Given the description of an element on the screen output the (x, y) to click on. 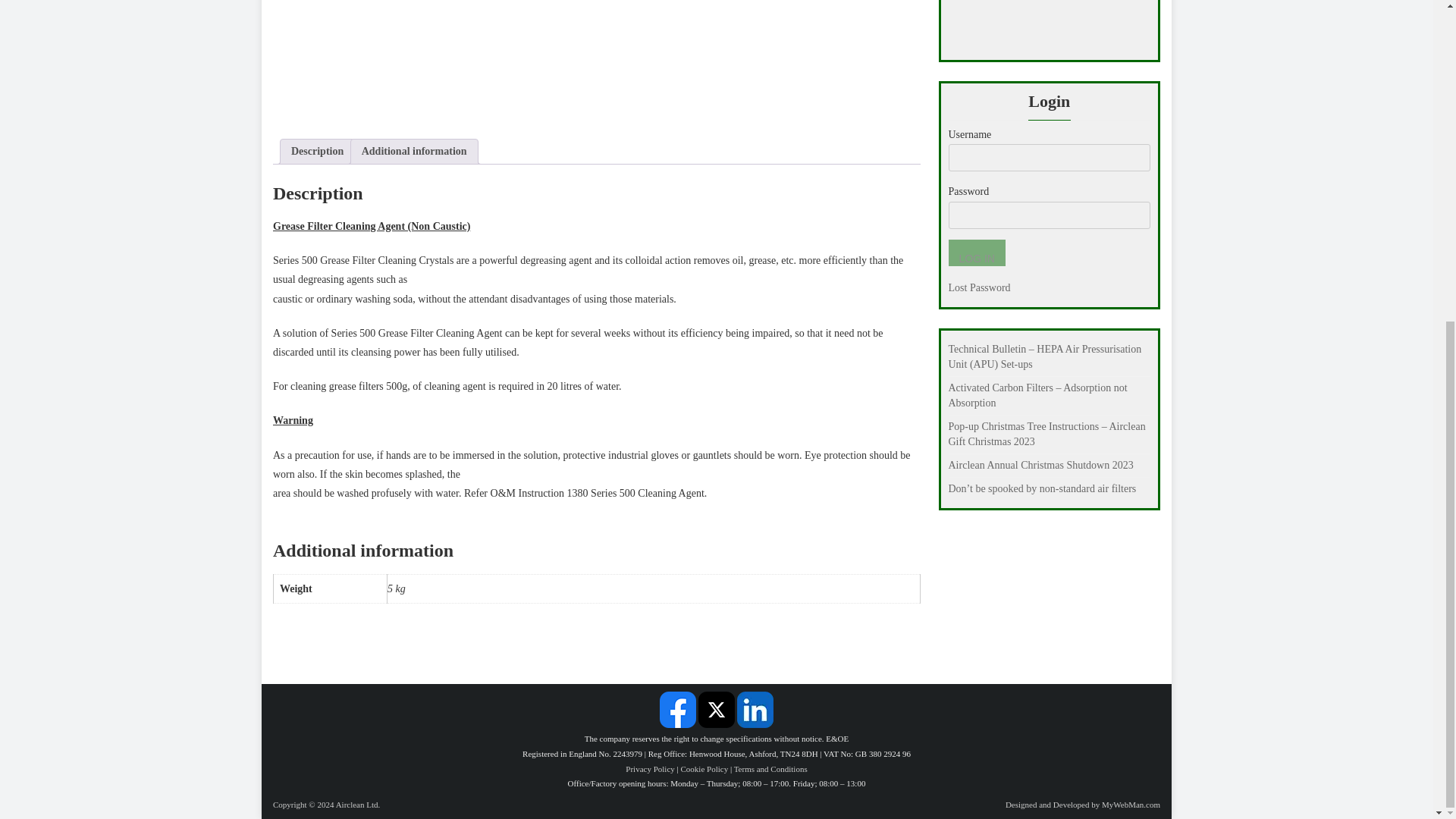
Log In (975, 252)
